Given the description of an element on the screen output the (x, y) to click on. 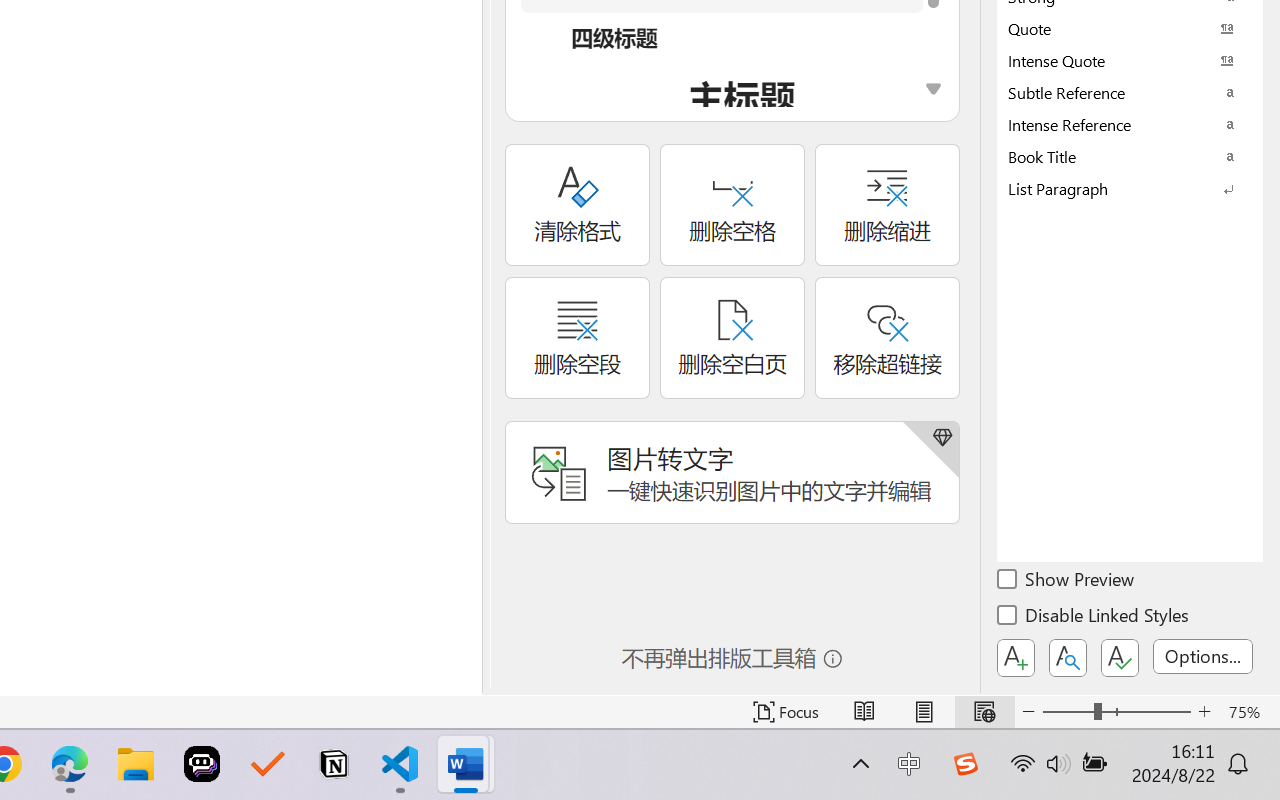
Class: NetUIButton (1119, 657)
Disable Linked Styles (1094, 618)
List Paragraph (1130, 188)
